Given the description of an element on the screen output the (x, y) to click on. 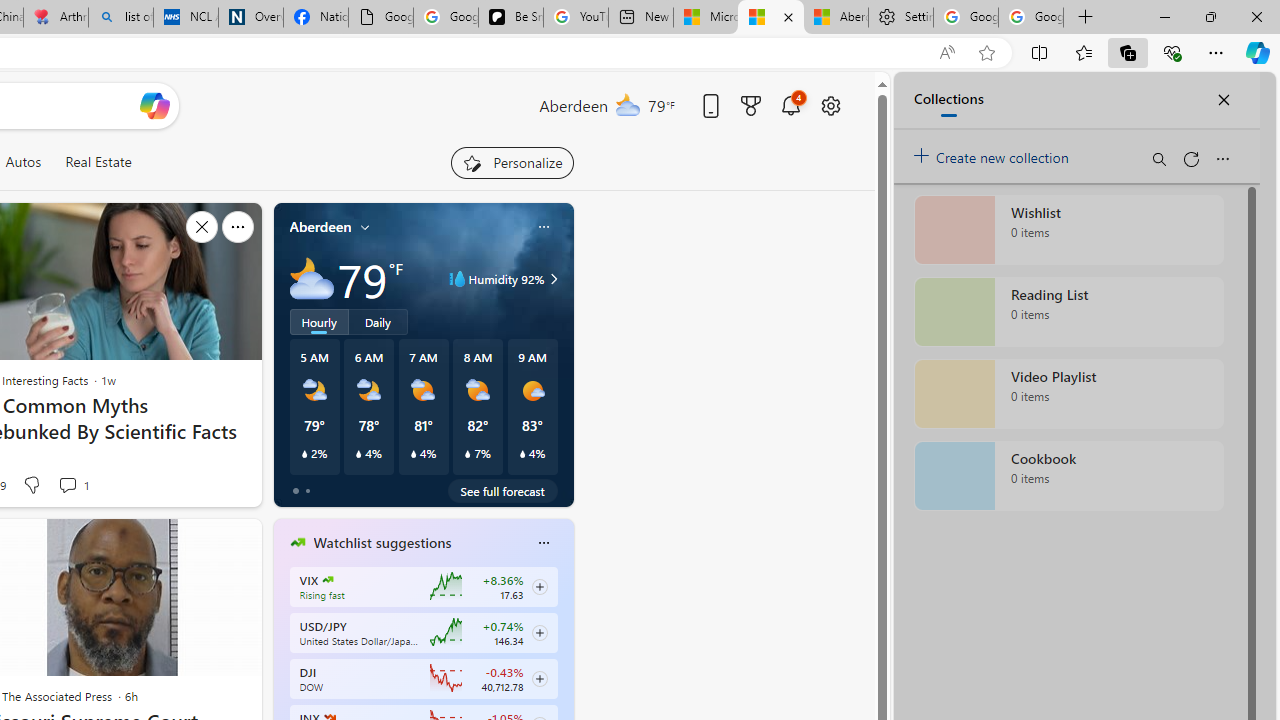
Daily (378, 321)
You're following FOX News (197, 490)
tab-0 (295, 490)
CBOE Market Volatility Index (328, 579)
